Given the description of an element on the screen output the (x, y) to click on. 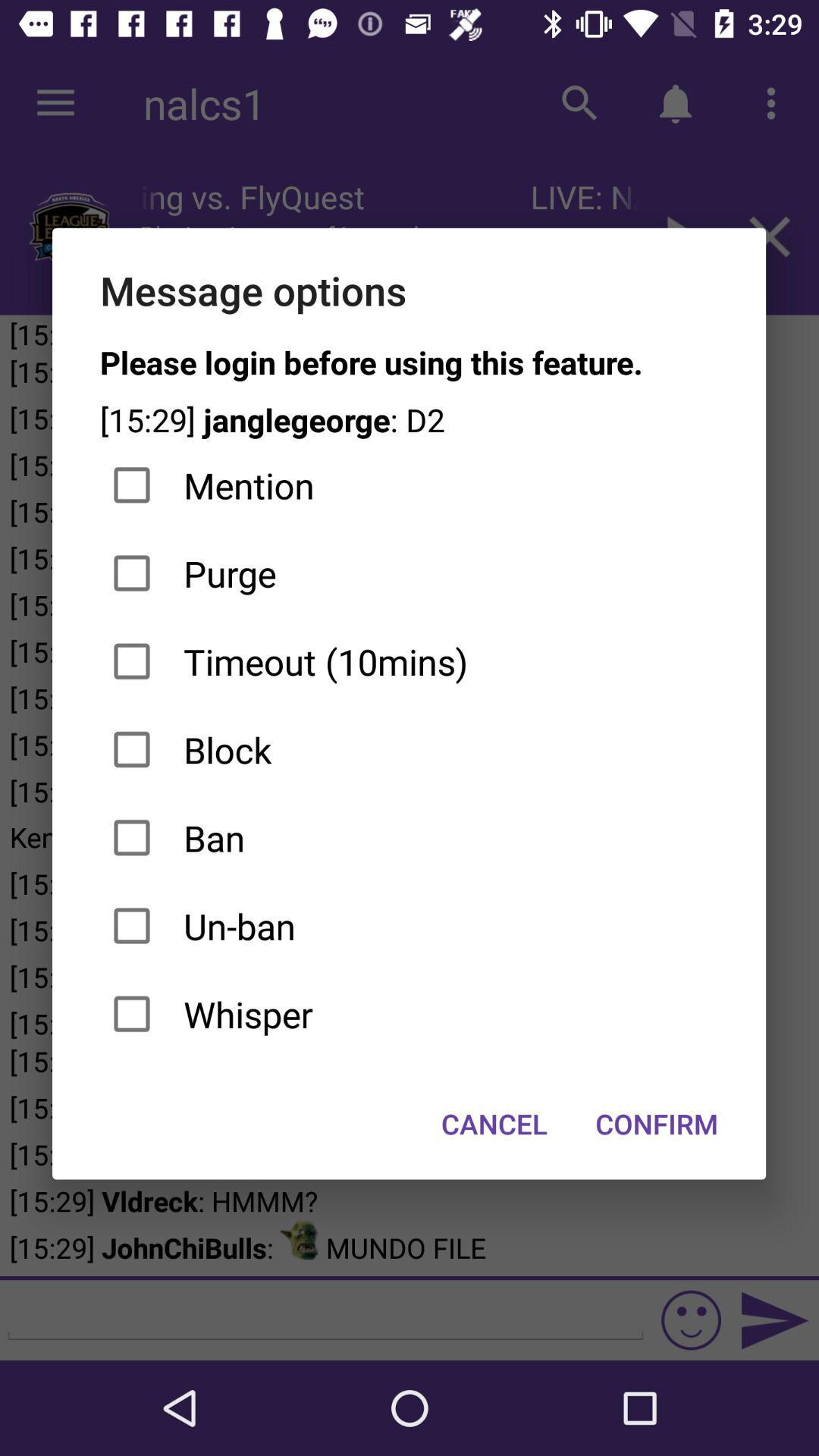
select icon below 15 29 janglegeorge app (409, 485)
